Given the description of an element on the screen output the (x, y) to click on. 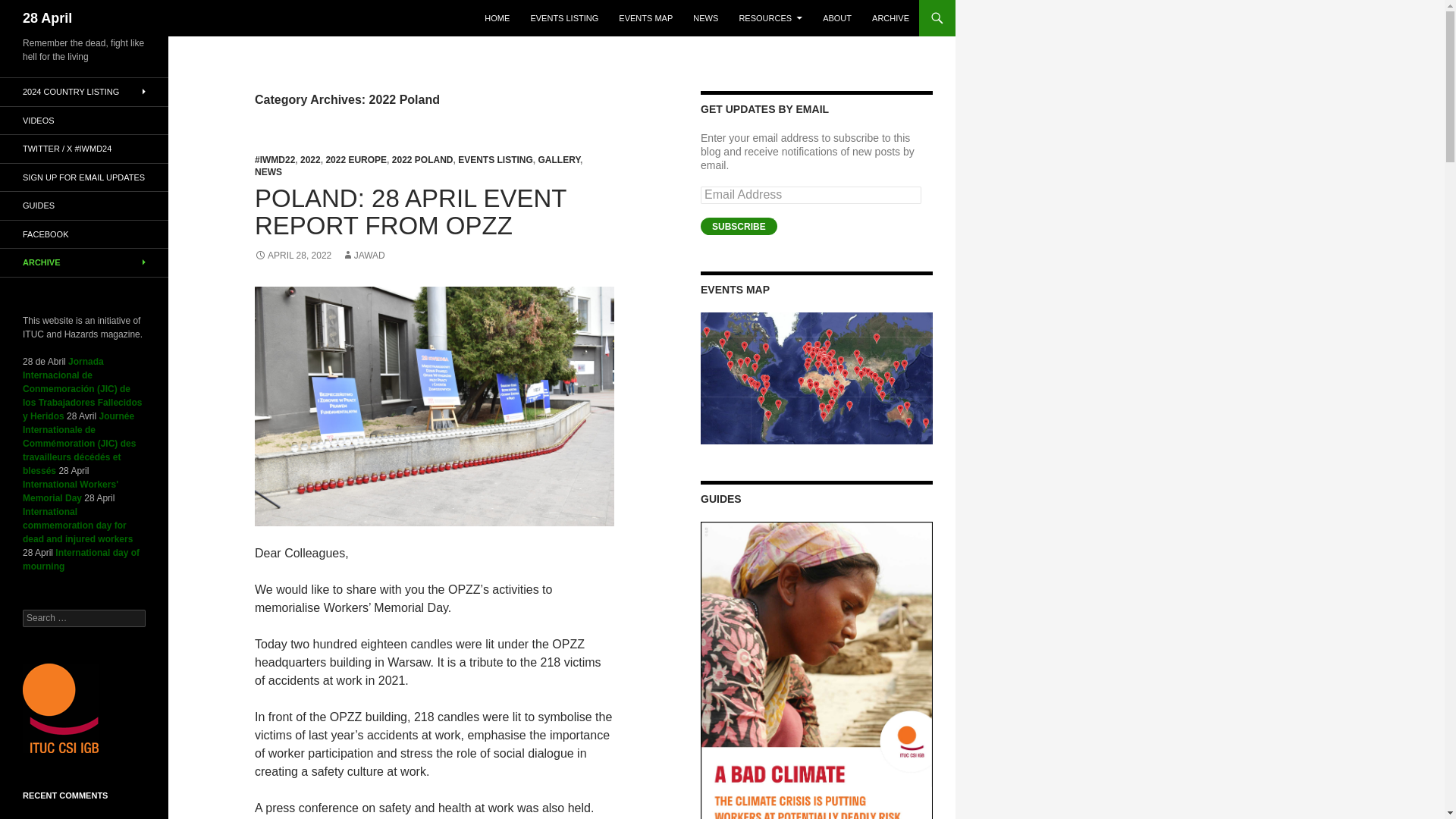
ARCHIVE (890, 18)
POLAND: 28 APRIL EVENT REPORT FROM OPZZ (410, 211)
HOME (497, 18)
APRIL 28, 2022 (292, 255)
2022 POLAND (421, 159)
NEWS (705, 18)
2022 (309, 159)
NEWS (268, 172)
JAWAD (363, 255)
RESOURCES (769, 18)
EVENTS MAP (645, 18)
ABOUT (836, 18)
EVENTS LISTING (564, 18)
28 April (47, 18)
EVENTS LISTING (495, 159)
